Given the description of an element on the screen output the (x, y) to click on. 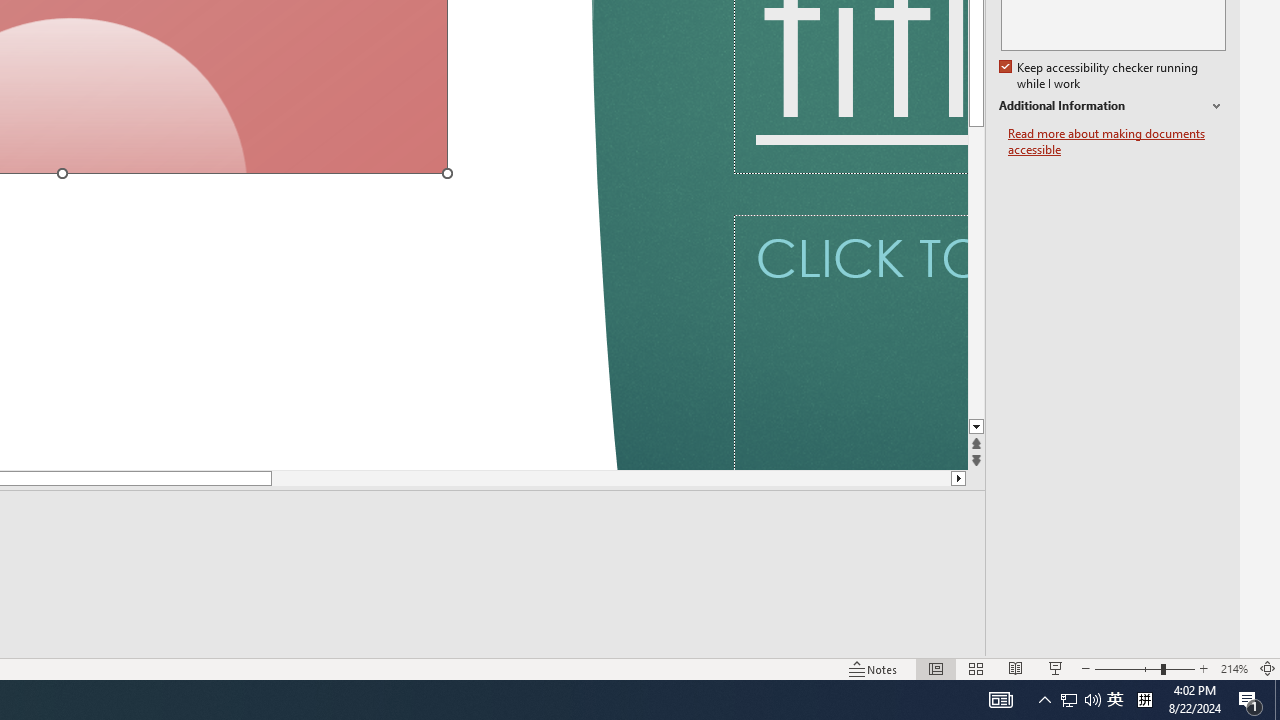
Zoom In (1204, 668)
Subtitle TextBox (850, 342)
Zoom Out (1127, 668)
Zoom 214% (1234, 668)
Page down (572, 478)
Additional Information (1112, 106)
Slide Sorter (975, 668)
Slide Show (1055, 668)
Zoom to Fit  (1267, 668)
Zoom (1144, 668)
Normal (936, 668)
Reading View (1015, 668)
Keep accessibility checker running while I work (1099, 76)
Line down (976, 427)
Notes  (874, 668)
